Given the description of an element on the screen output the (x, y) to click on. 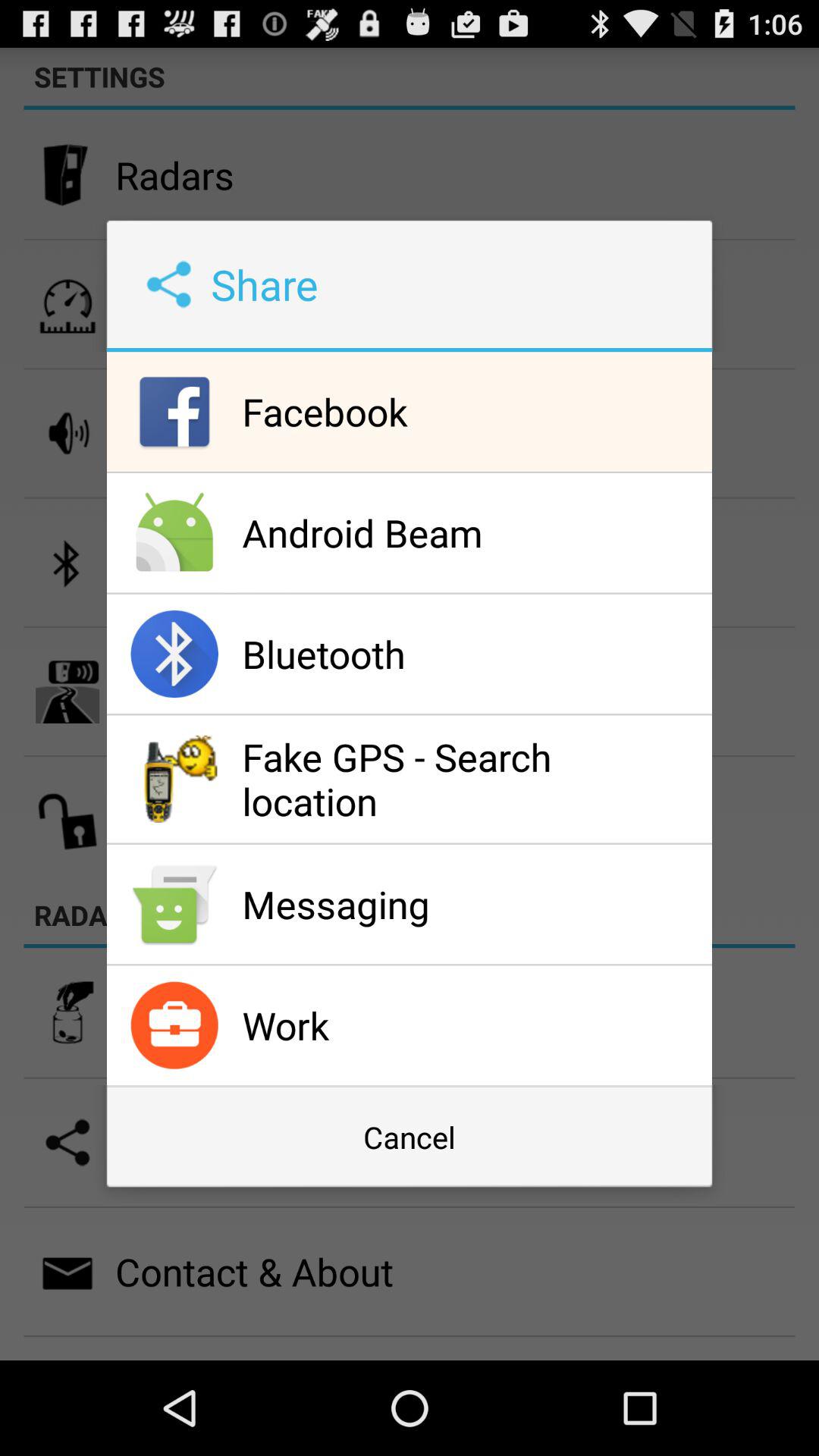
jump to facebook item (473, 411)
